Given the description of an element on the screen output the (x, y) to click on. 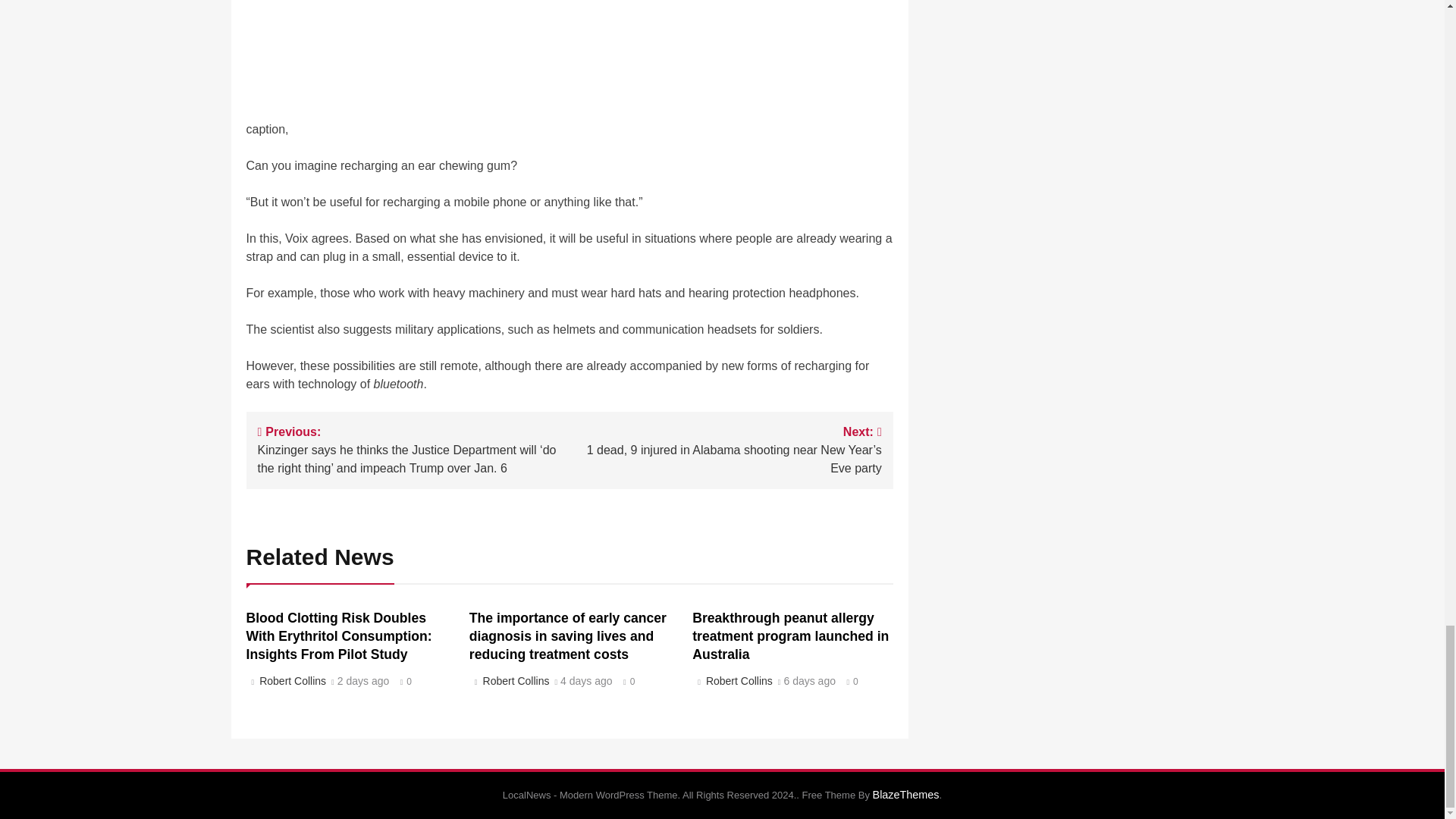
2 days ago (363, 681)
Robert Collins (290, 680)
Robert Collins (513, 680)
4 days ago (586, 681)
